Given the description of an element on the screen output the (x, y) to click on. 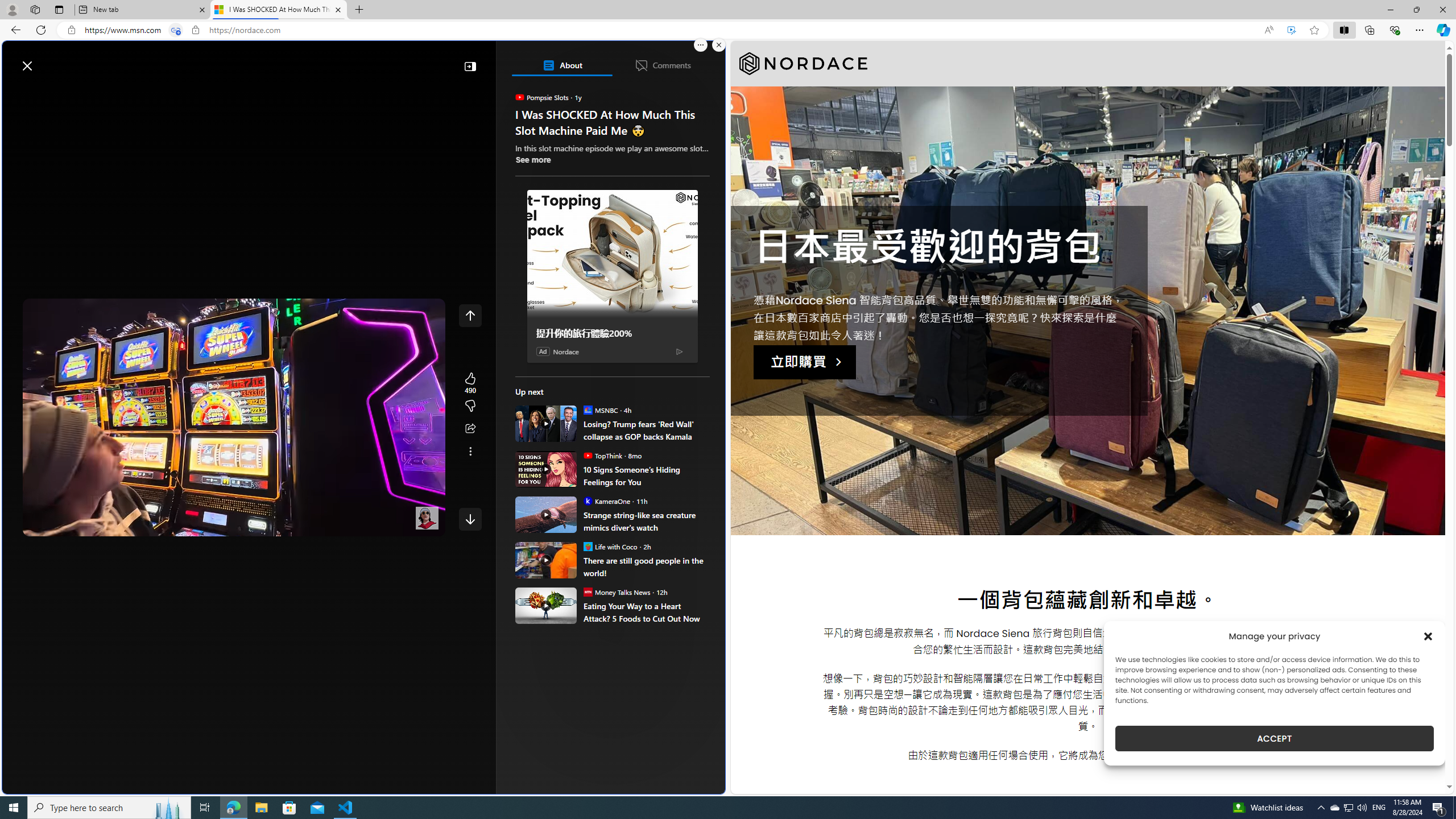
More options. (700, 45)
Unmute (m) (66, 525)
MSNBC MSNBC (600, 409)
Subtitles/closed captions unavailable (343, 525)
